Given the description of an element on the screen output the (x, y) to click on. 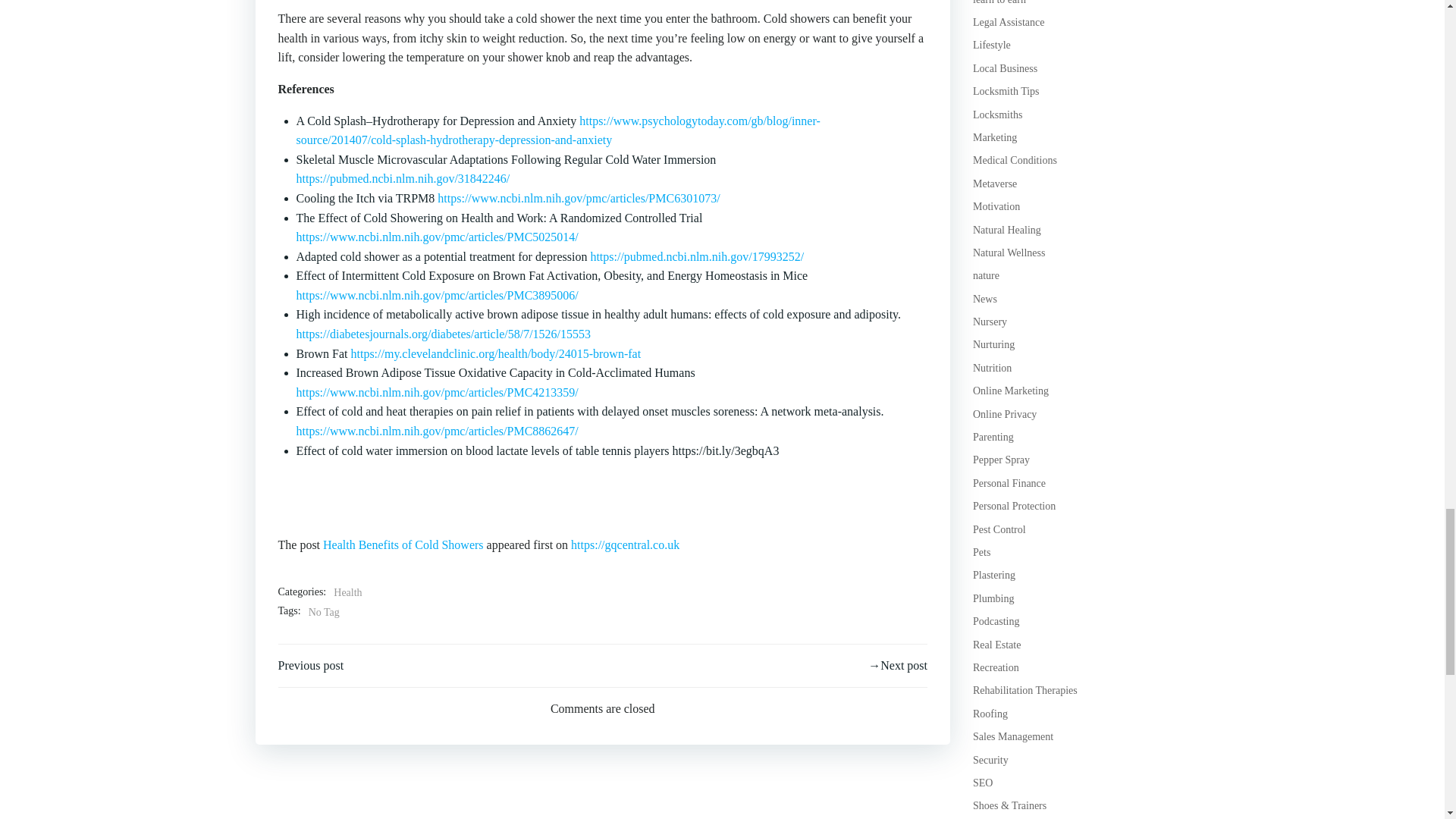
Health Benefits of Cold Showers (403, 544)
Previous post (310, 665)
Health (347, 592)
Next post (897, 665)
